Given the description of an element on the screen output the (x, y) to click on. 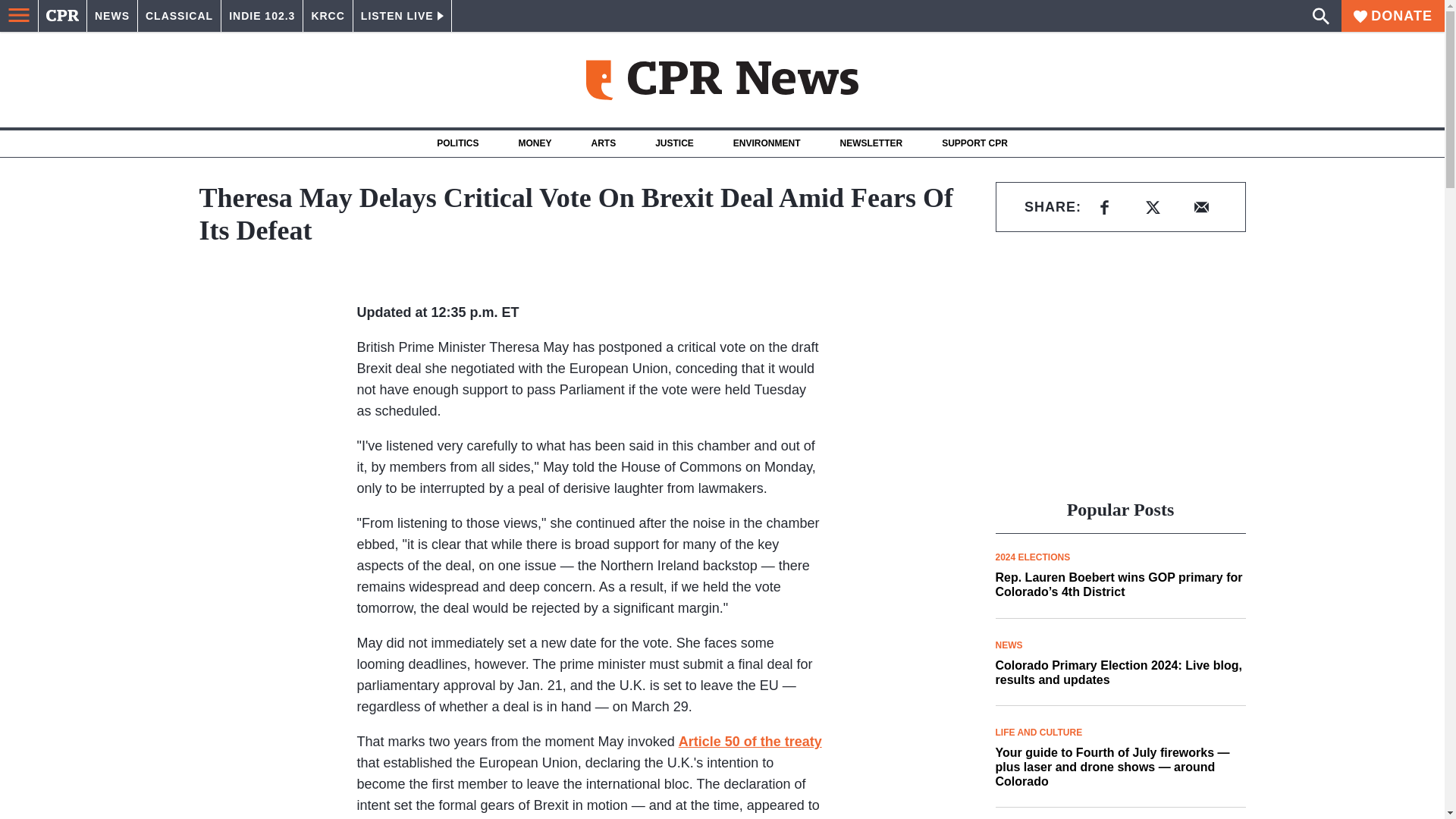
CLASSICAL (179, 15)
NEWS (111, 15)
KRCC (327, 15)
LISTEN LIVE (402, 15)
INDIE 102.3 (261, 15)
